Given the description of an element on the screen output the (x, y) to click on. 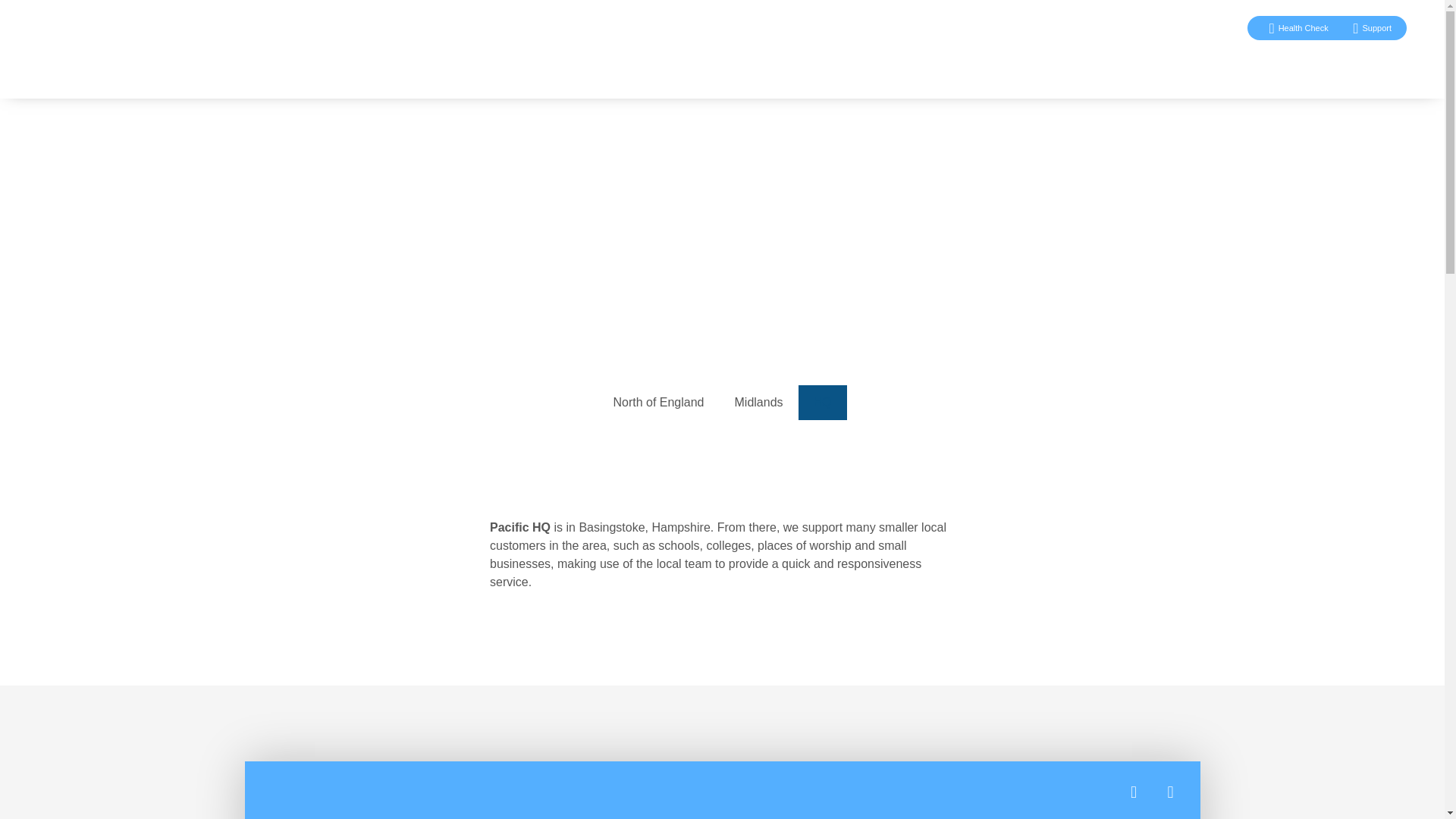
Support (1365, 27)
Services (1132, 64)
Case Studies (1283, 64)
News (1201, 64)
Home (1000, 64)
Health Check (1291, 27)
Contact (1370, 64)
About (1063, 64)
